Given the description of an element on the screen output the (x, y) to click on. 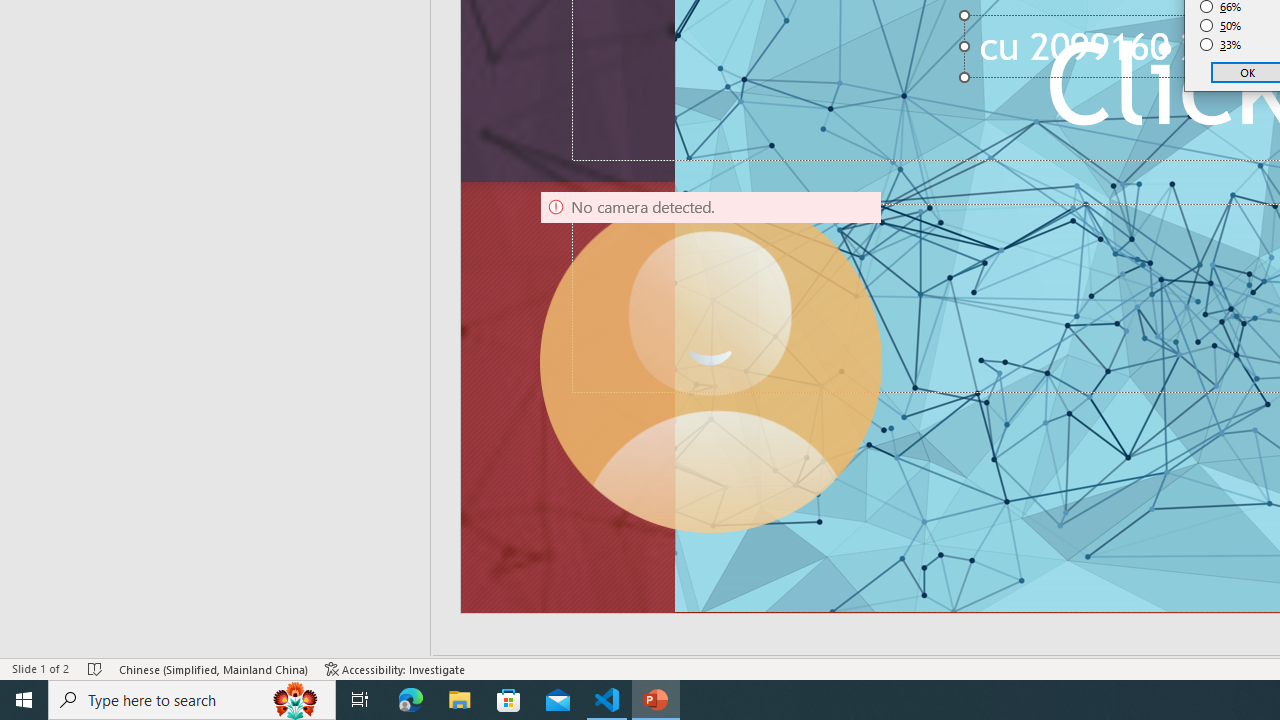
50% (1221, 25)
33% (1221, 44)
